Given the description of an element on the screen output the (x, y) to click on. 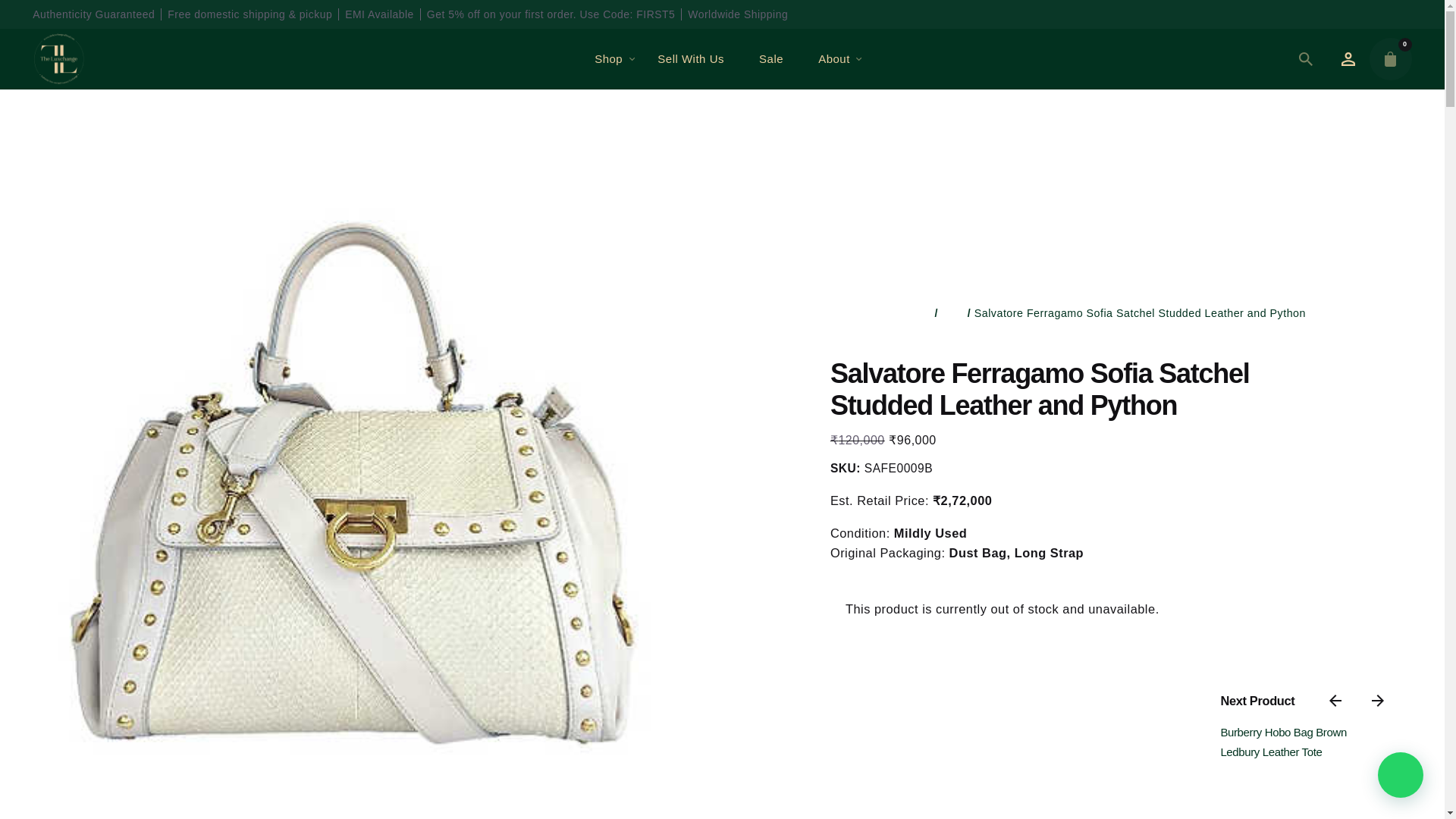
Shop (608, 59)
